Given the description of an element on the screen output the (x, y) to click on. 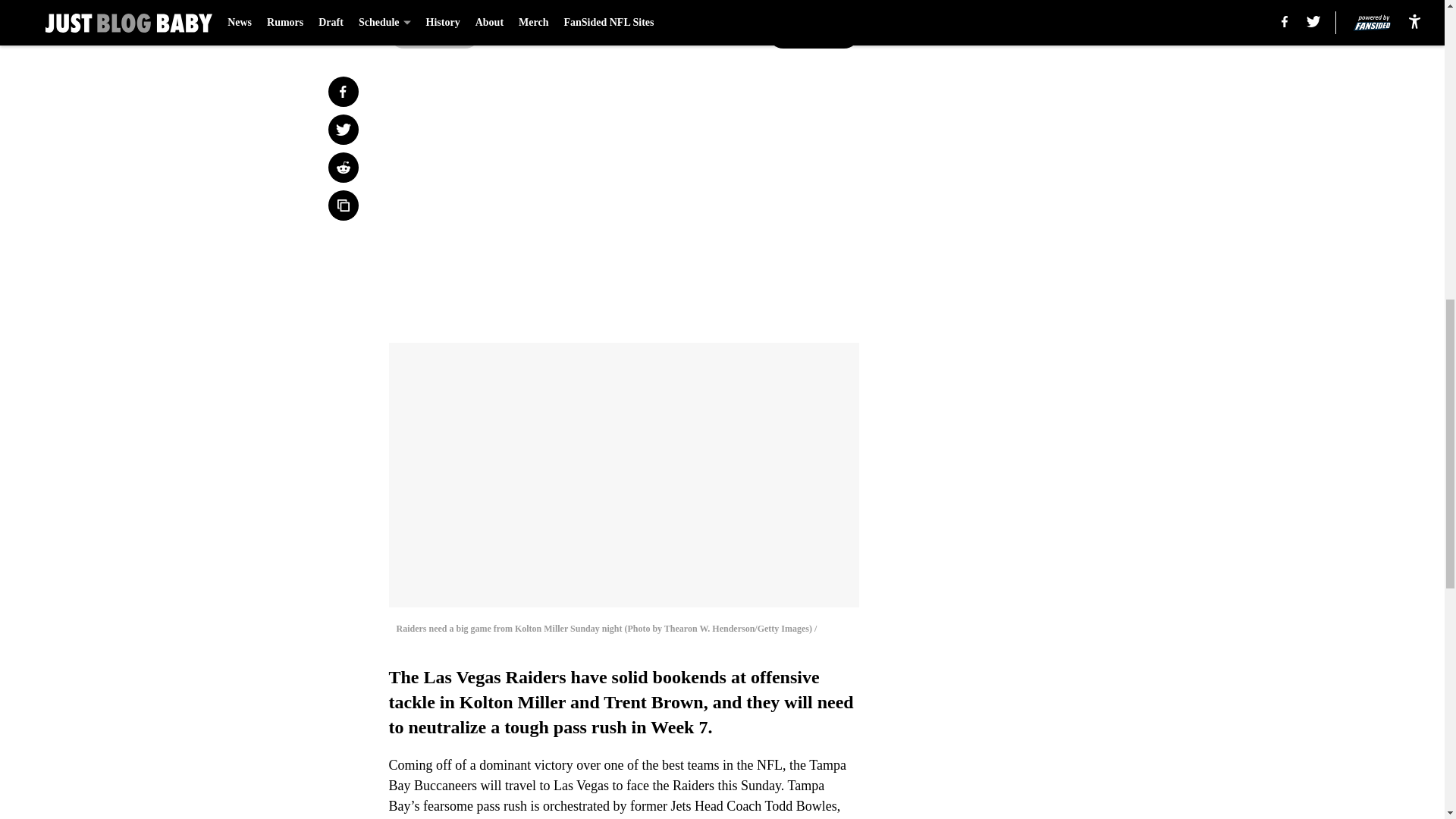
Next (813, 33)
Prev (433, 33)
